Given the description of an element on the screen output the (x, y) to click on. 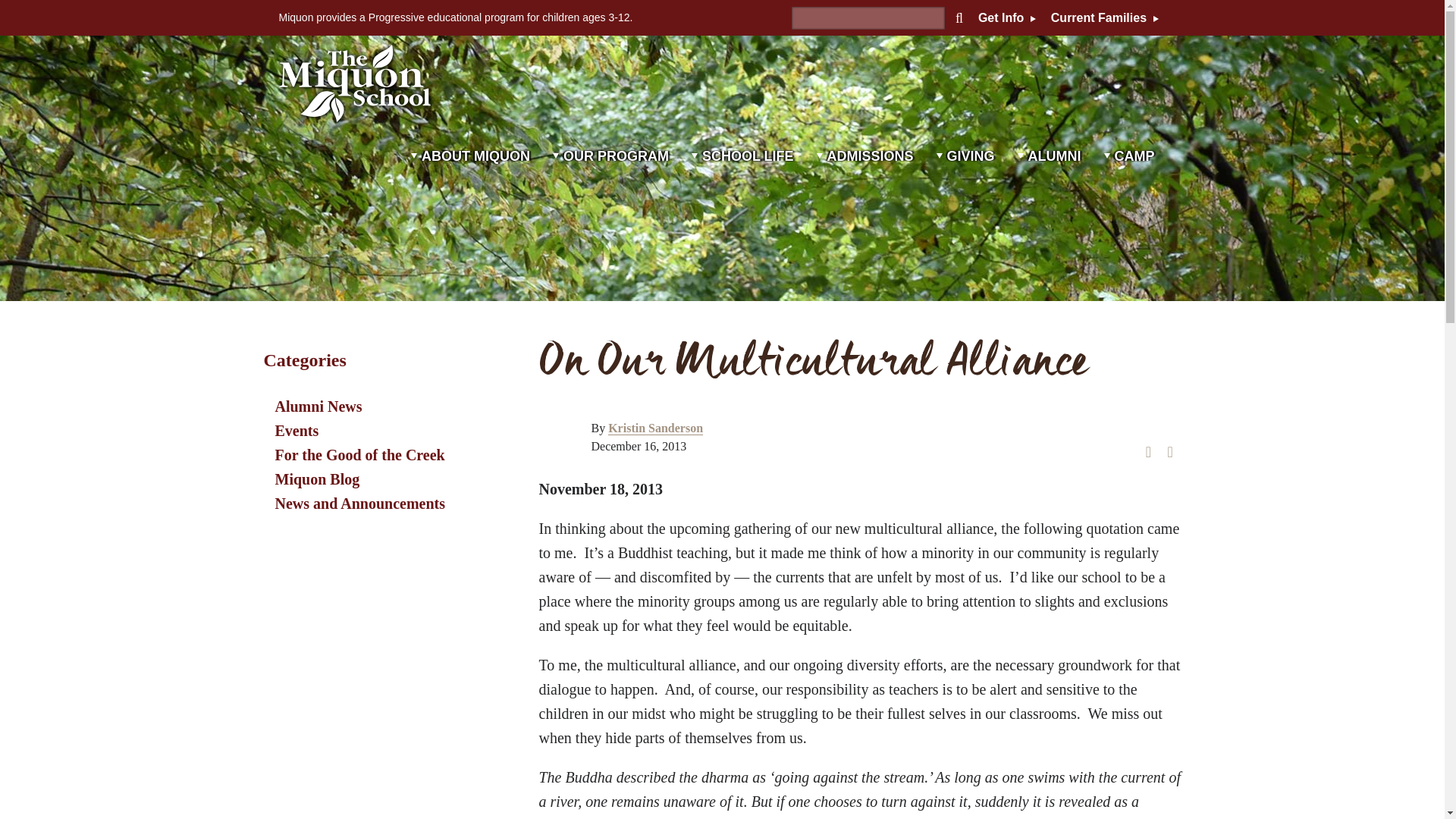
View all posts by Kristin Sanderson (655, 427)
OUR PROGRAM (610, 175)
Get Info (1006, 17)
ABOUT MIQUON (469, 175)
The Miquon School (354, 83)
